Given the description of an element on the screen output the (x, y) to click on. 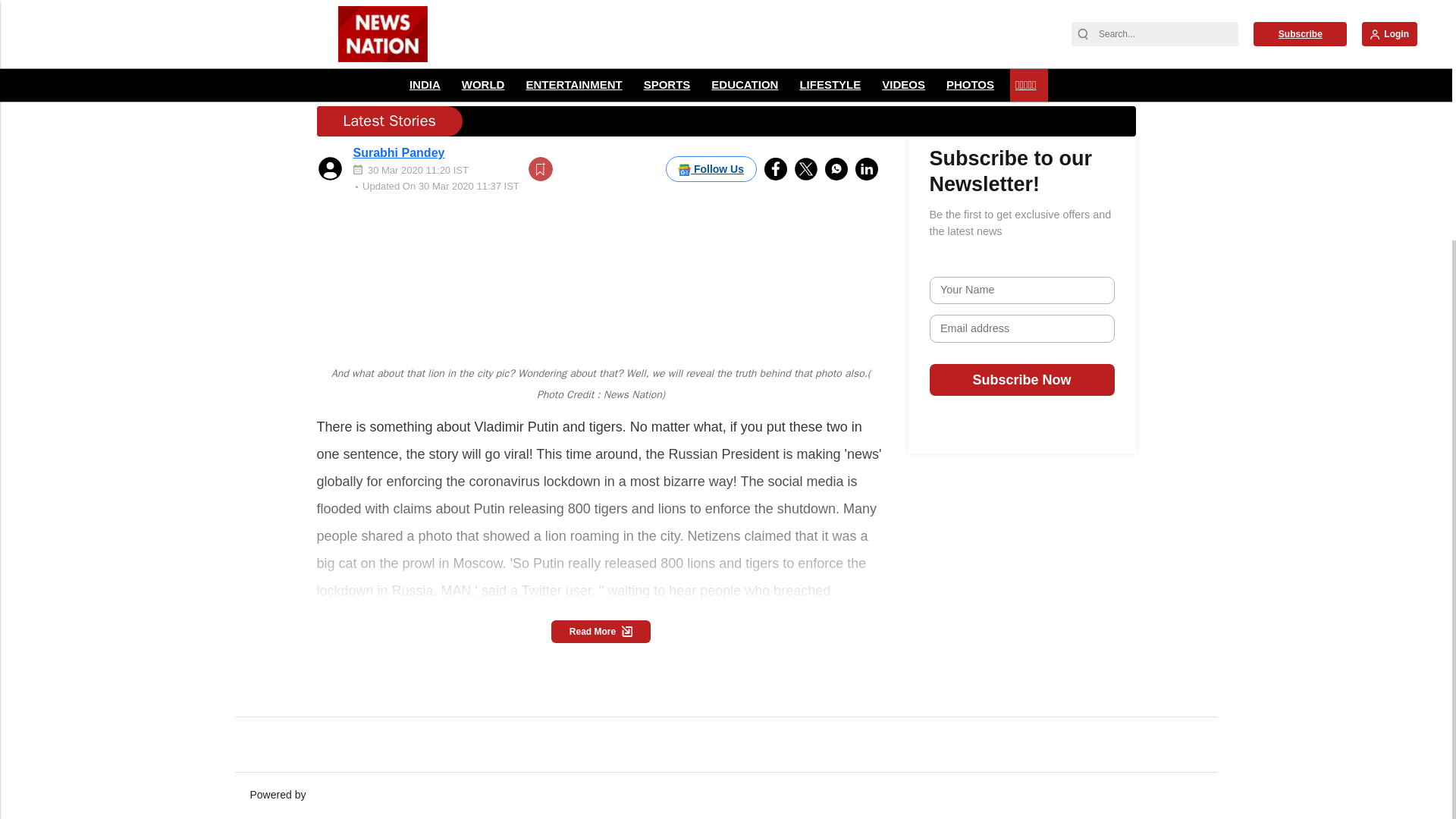
Follow Us (711, 70)
Surabhi Pandey (399, 53)
